Given the description of an element on the screen output the (x, y) to click on. 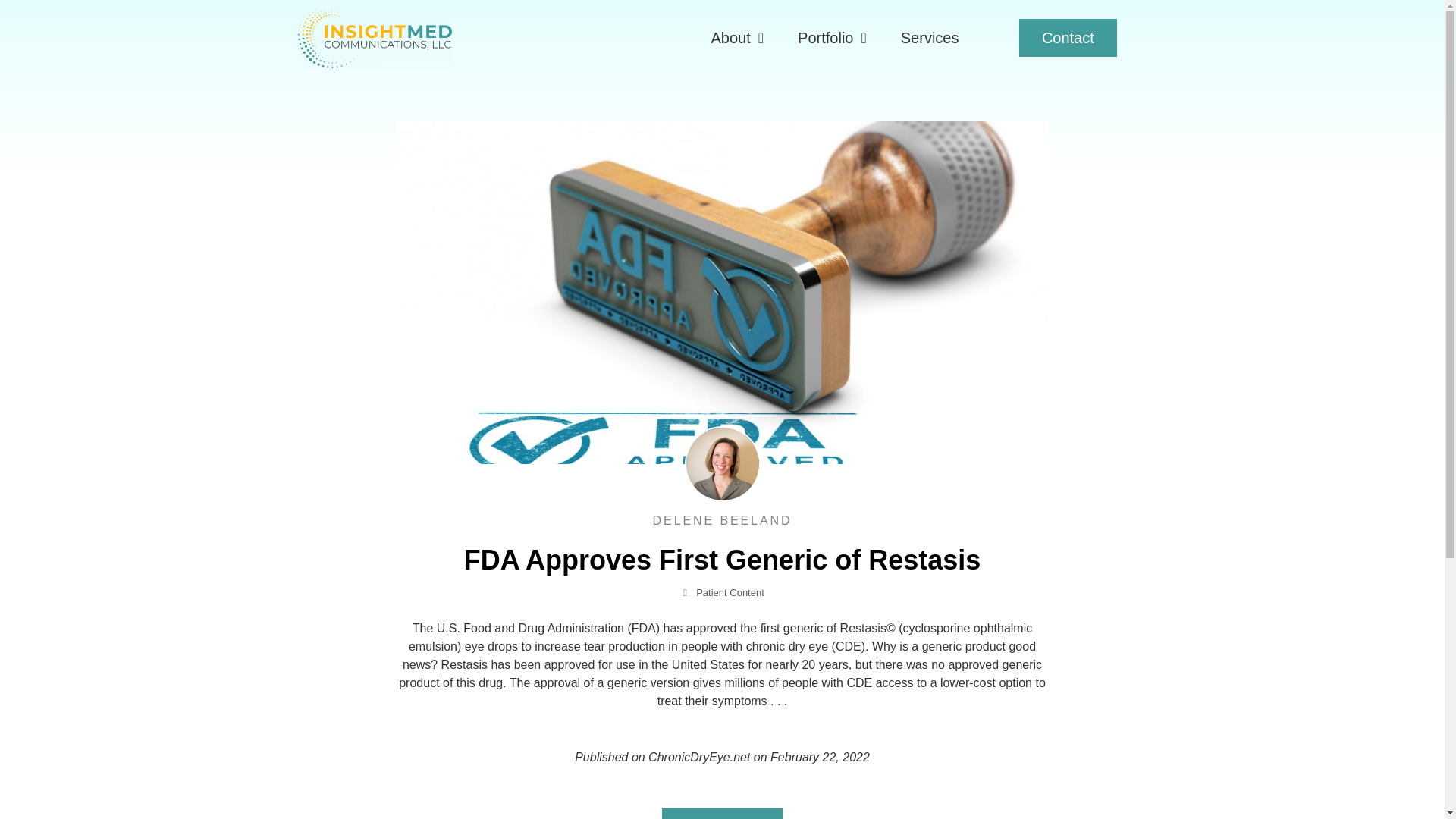
Services (929, 37)
Contact (1067, 37)
Portfolio (832, 37)
Patient Content (729, 592)
About (736, 37)
Read More (722, 813)
